Given the description of an element on the screen output the (x, y) to click on. 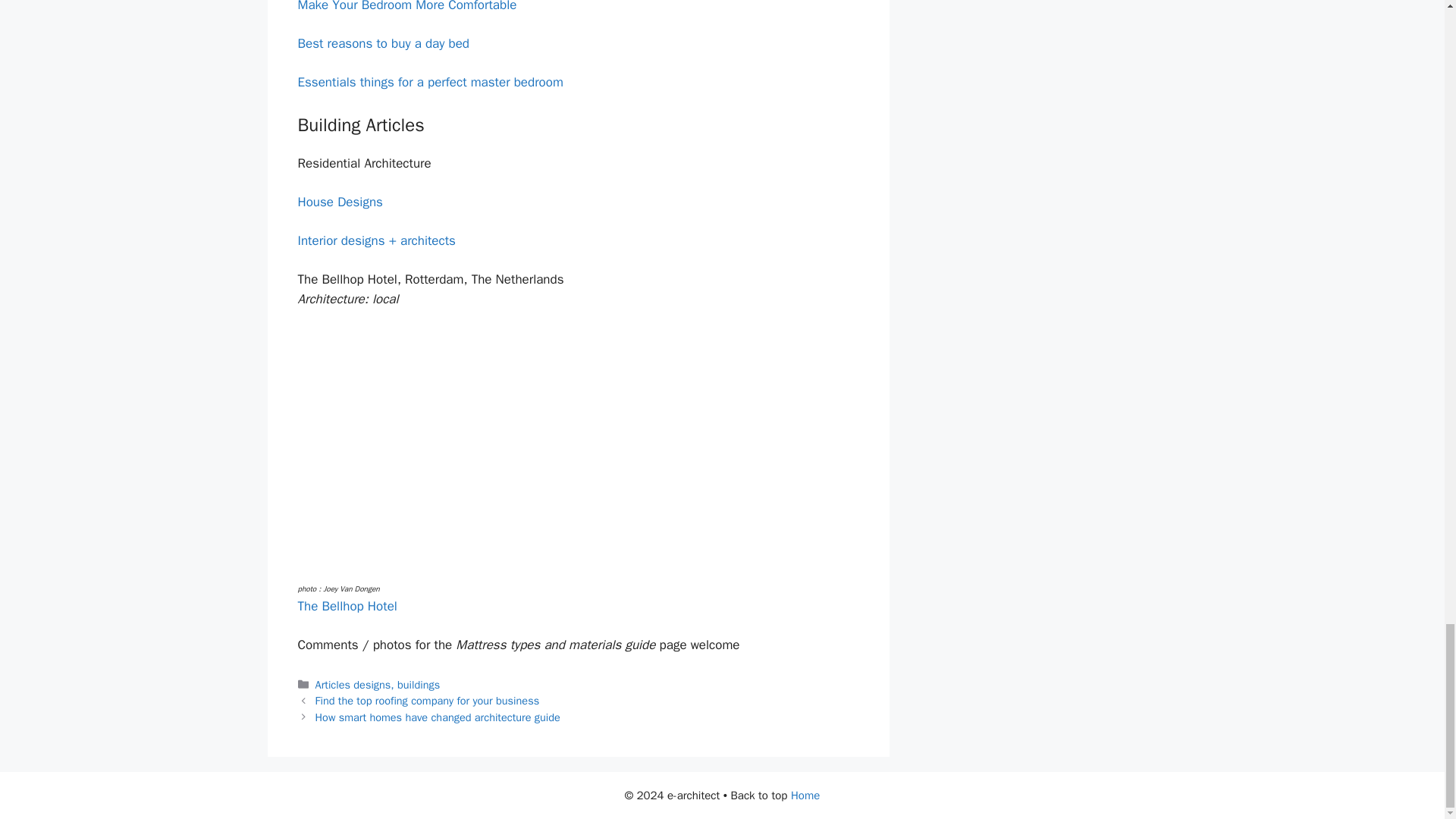
Articles designs, buildings (378, 684)
Best reasons to buy a day bed (382, 43)
Home (804, 795)
Make Your Bedroom More Comfortable (406, 6)
How smart homes have changed architecture guide (437, 716)
House Designs (339, 201)
The Bellhop Hotel (346, 606)
Find the top roofing company for your business (427, 700)
Essentials things for a perfect master bedroom (429, 82)
